Given the description of an element on the screen output the (x, y) to click on. 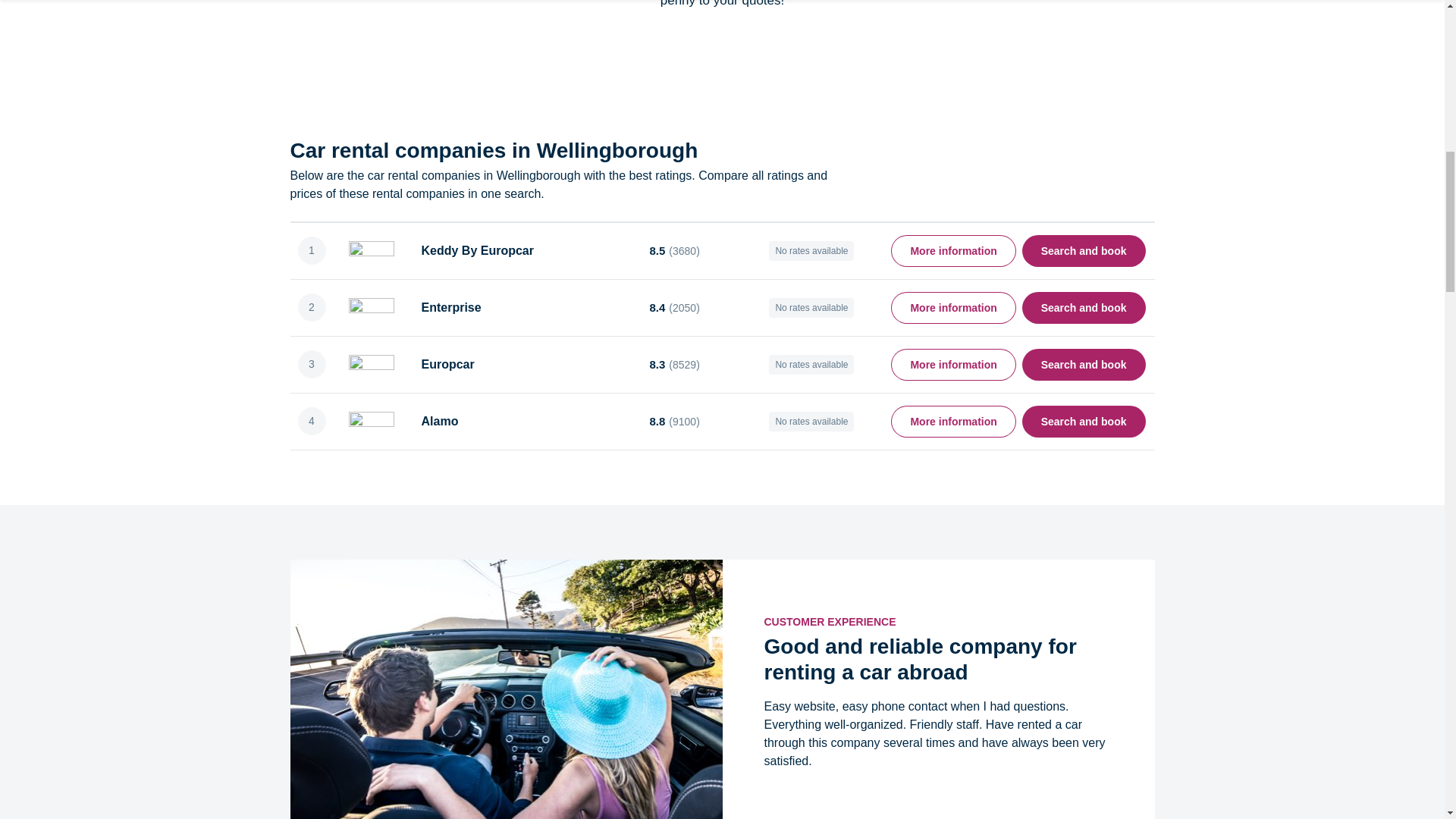
Search and book (1083, 364)
Search and book (1083, 420)
Search and book (1083, 306)
More information (952, 306)
More information (952, 420)
More information (952, 364)
More information (952, 250)
Search and book (1083, 250)
